Given the description of an element on the screen output the (x, y) to click on. 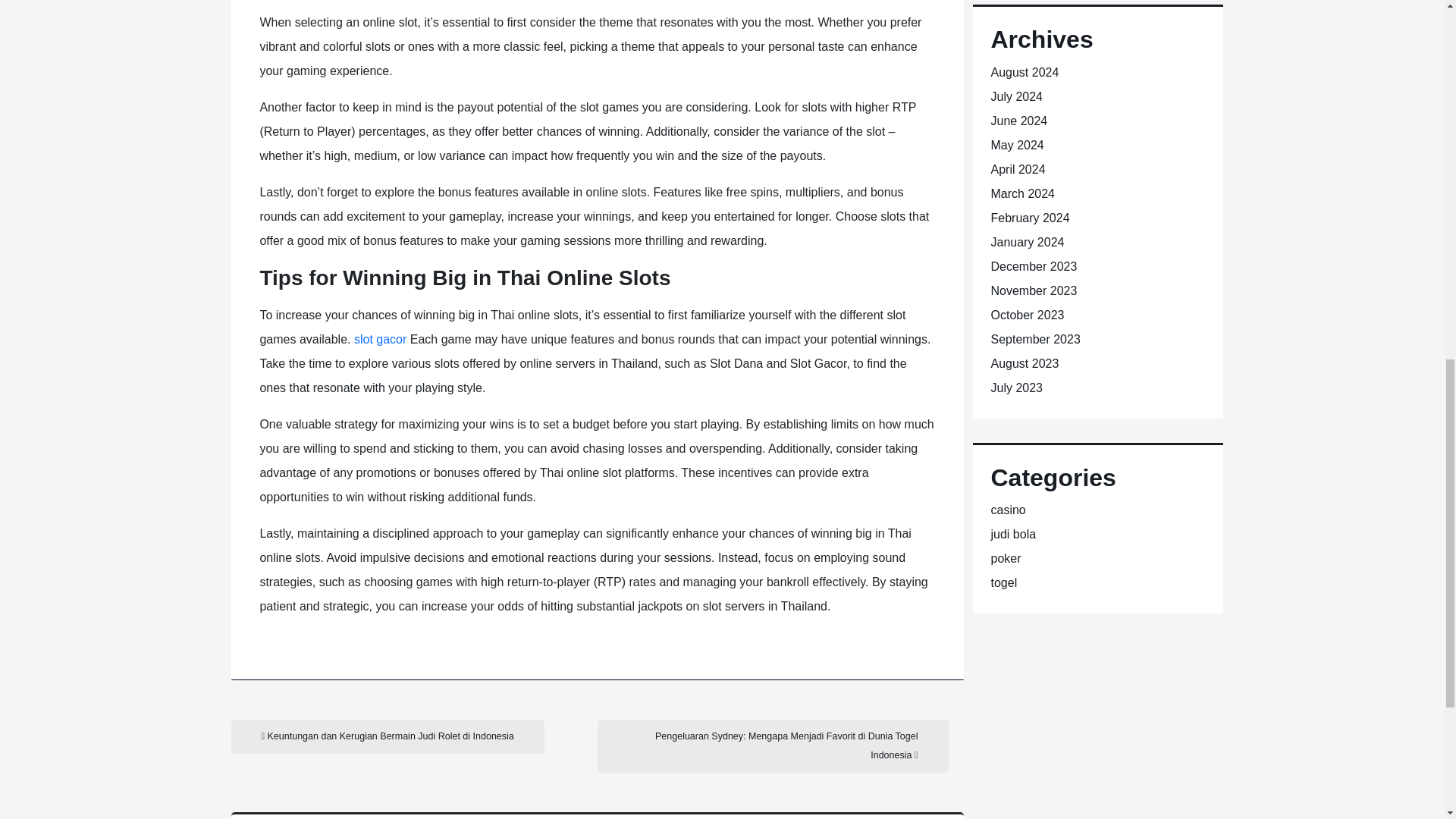
poker (1005, 558)
May 2024 (1016, 144)
December 2023 (1033, 266)
July 2023 (1016, 387)
July 2024 (1016, 96)
November 2023 (1033, 290)
June 2024 (1018, 120)
August 2024 (1024, 72)
October 2023 (1027, 314)
